Given the description of an element on the screen output the (x, y) to click on. 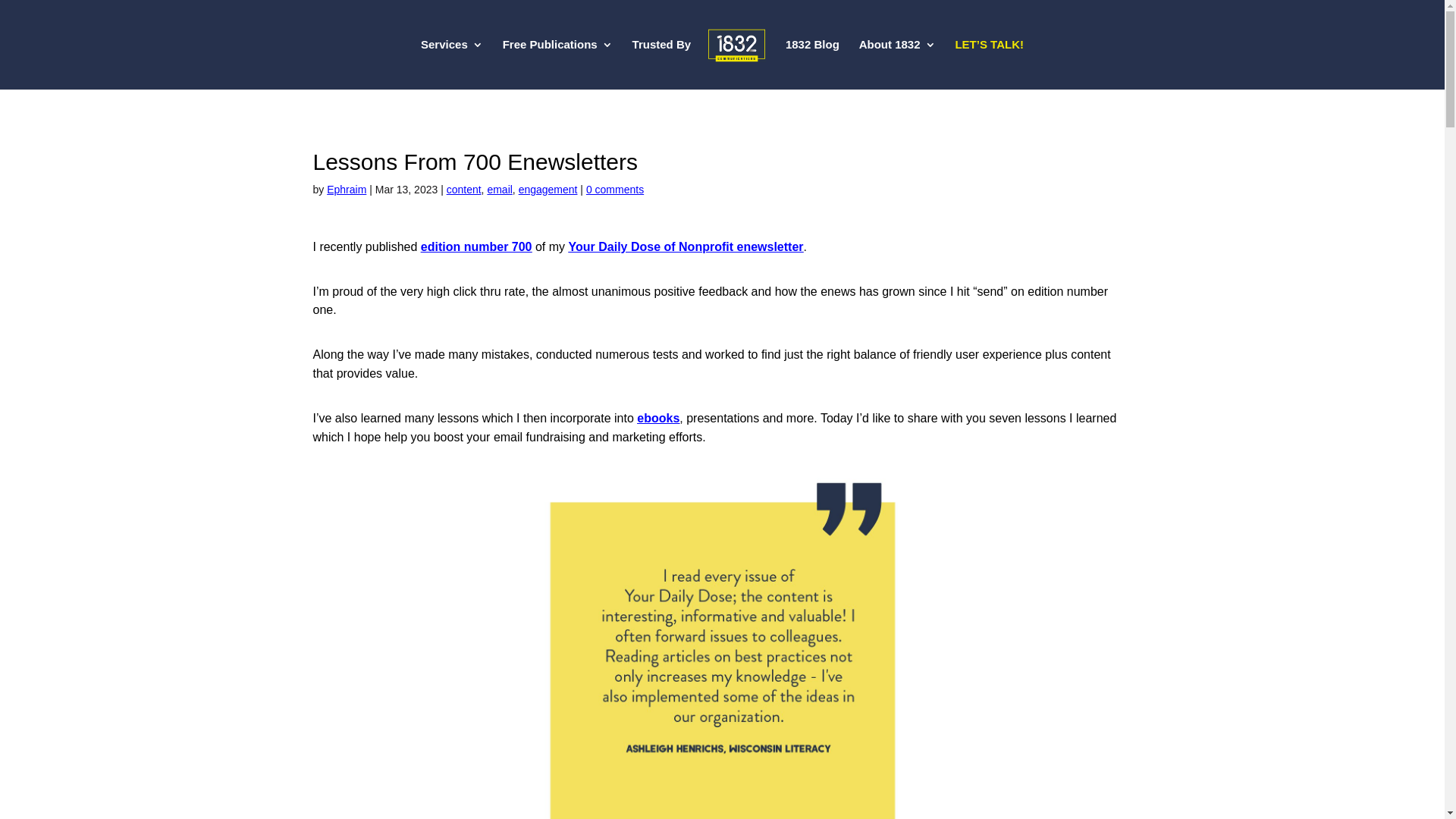
Services Element type: text (451, 64)
ebooks Element type: text (658, 417)
0 comments Element type: text (614, 189)
edition number 700 Element type: text (476, 246)
content Element type: text (463, 189)
email Element type: text (498, 189)
Trusted By Element type: text (661, 64)
Your Daily Dose of Nonprofit enewsletter Element type: text (685, 246)
Free Publications Element type: text (557, 64)
1832 Blog Element type: text (812, 64)
About 1832 Element type: text (897, 64)
Ephraim Element type: text (346, 189)
engagement Element type: text (547, 189)
